Given the description of an element on the screen output the (x, y) to click on. 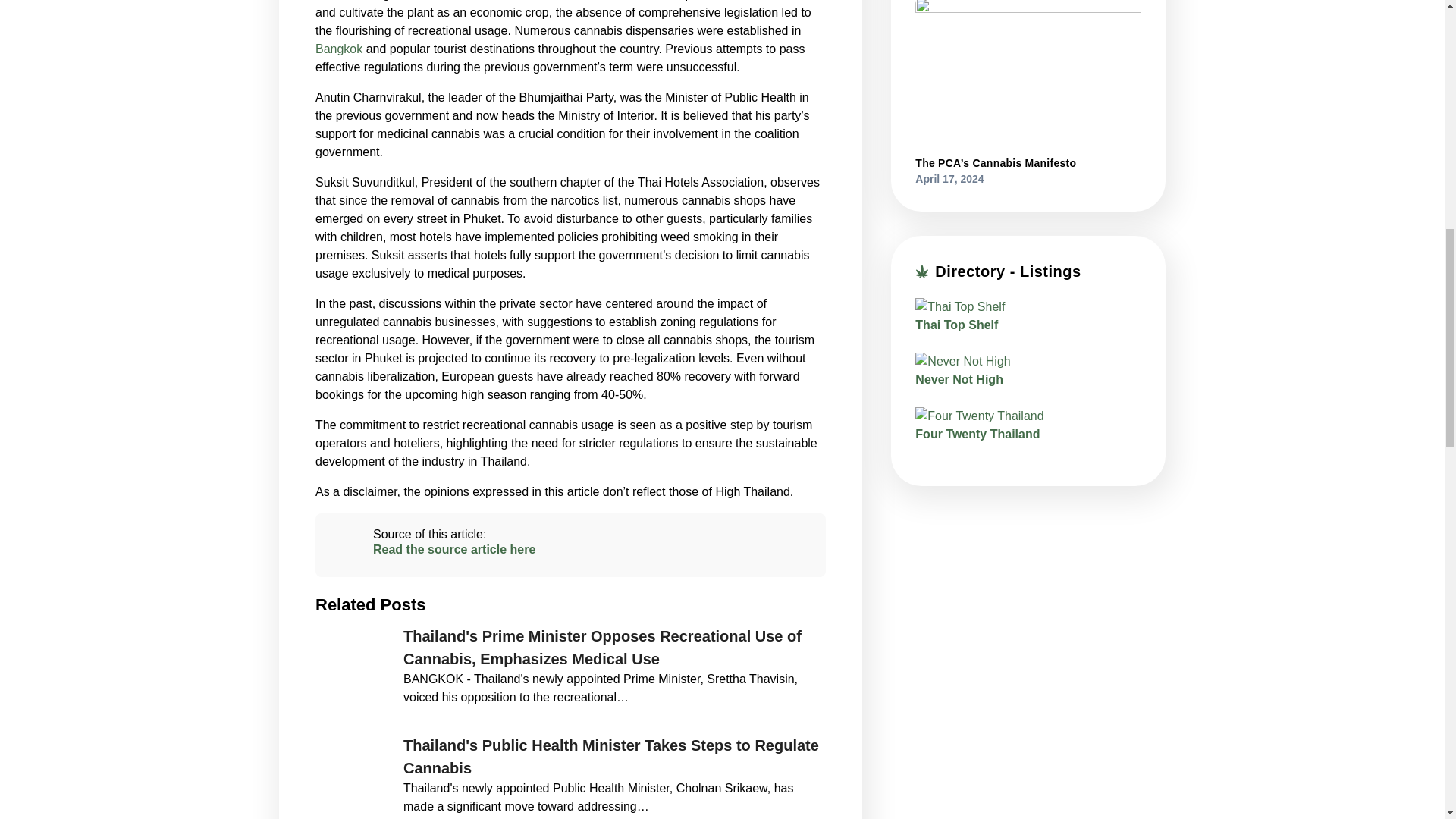
Four Twenty Thailand (977, 433)
Bangkok (338, 48)
Thai Top Shelf (956, 324)
Read the source article here (570, 549)
Never Not High (959, 379)
